Given the description of an element on the screen output the (x, y) to click on. 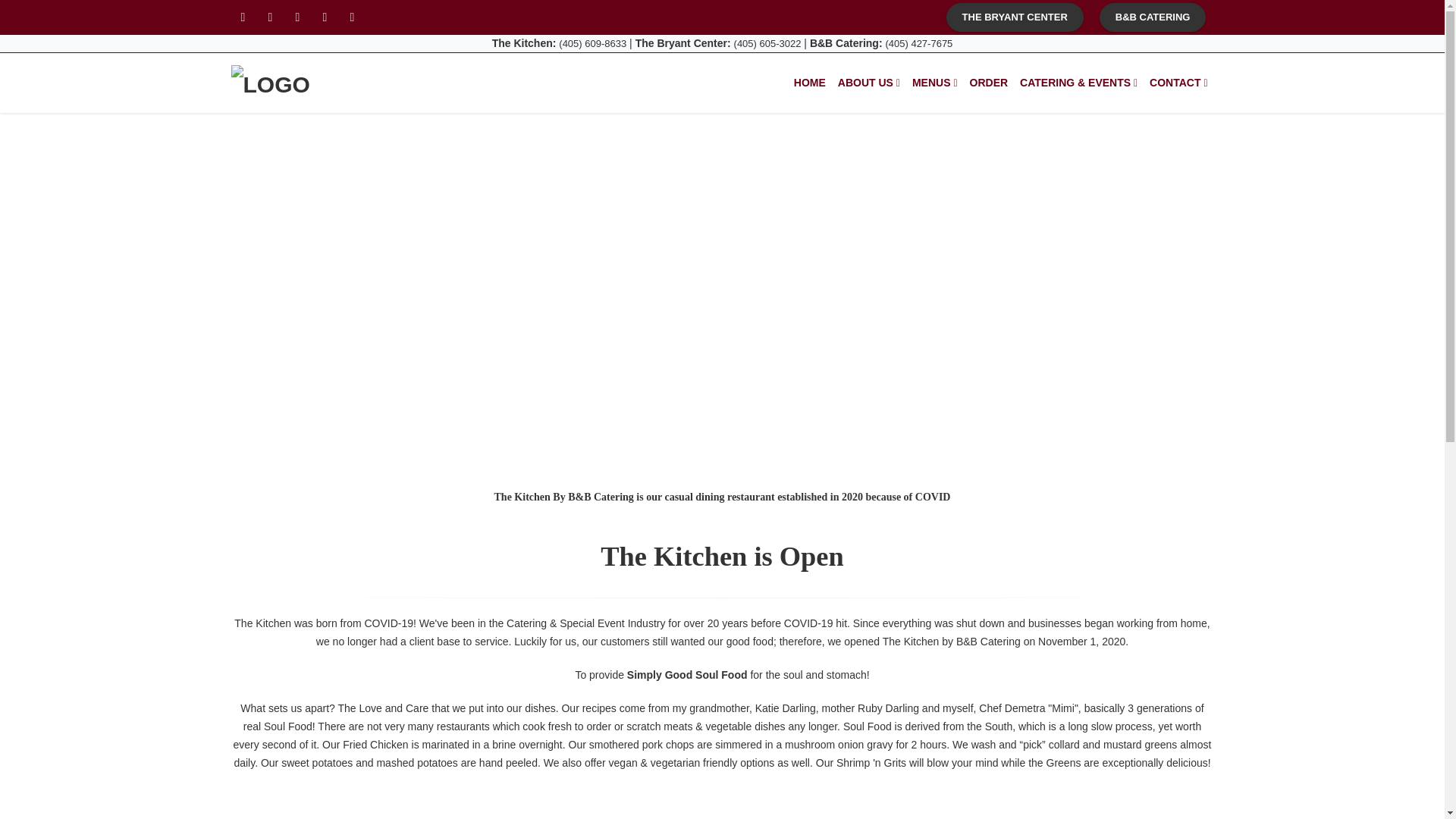
THE BRYANT CENTER (1014, 17)
Entrees (722, 815)
HOME (809, 82)
ORDER (988, 82)
MENUS (934, 82)
Desserts (1055, 815)
ABOUT US (868, 82)
CONTACT (1177, 82)
